Given the description of an element on the screen output the (x, y) to click on. 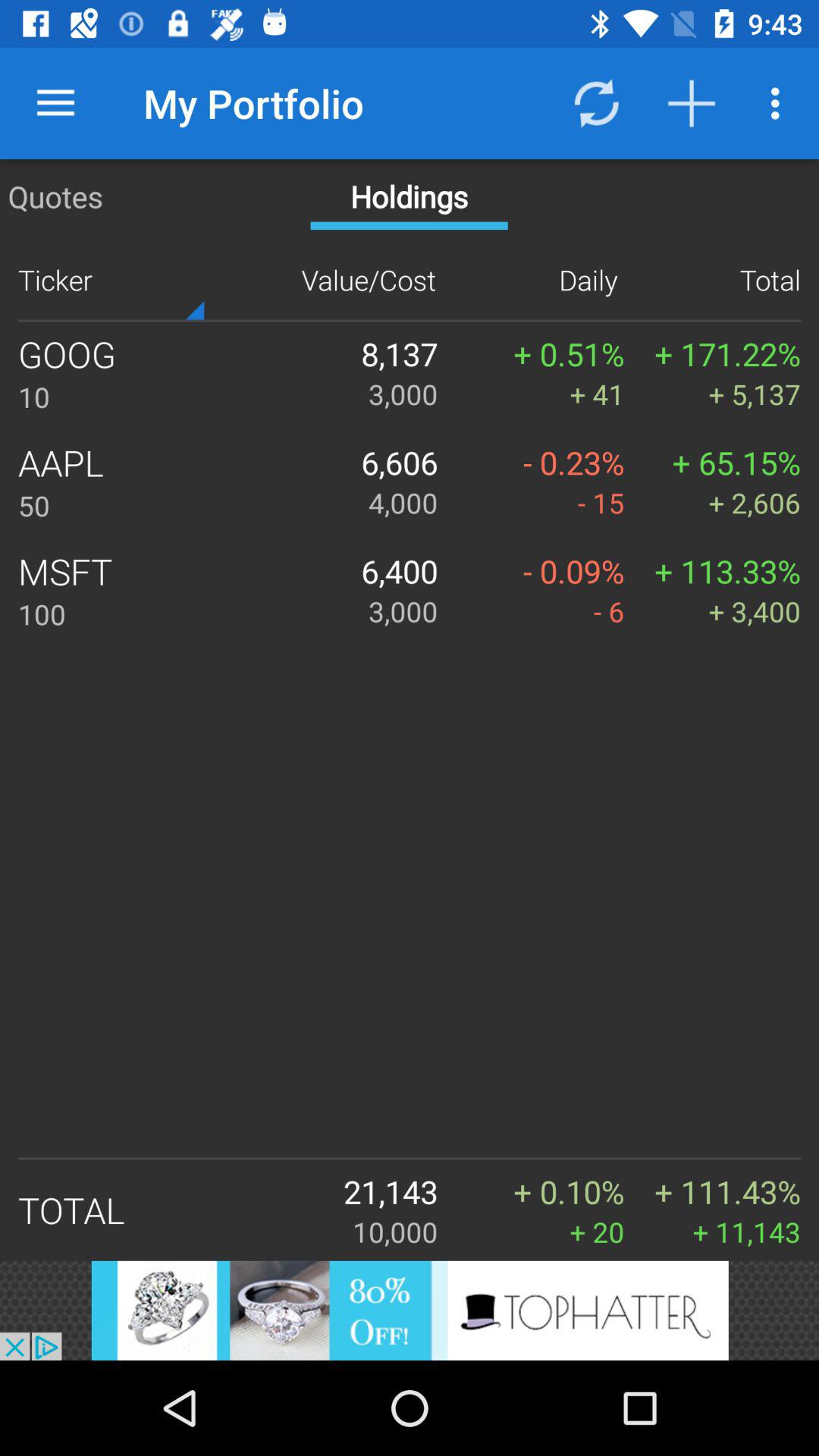
click on the refresh icon which is left to the addicon (595, 103)
